Given the description of an element on the screen output the (x, y) to click on. 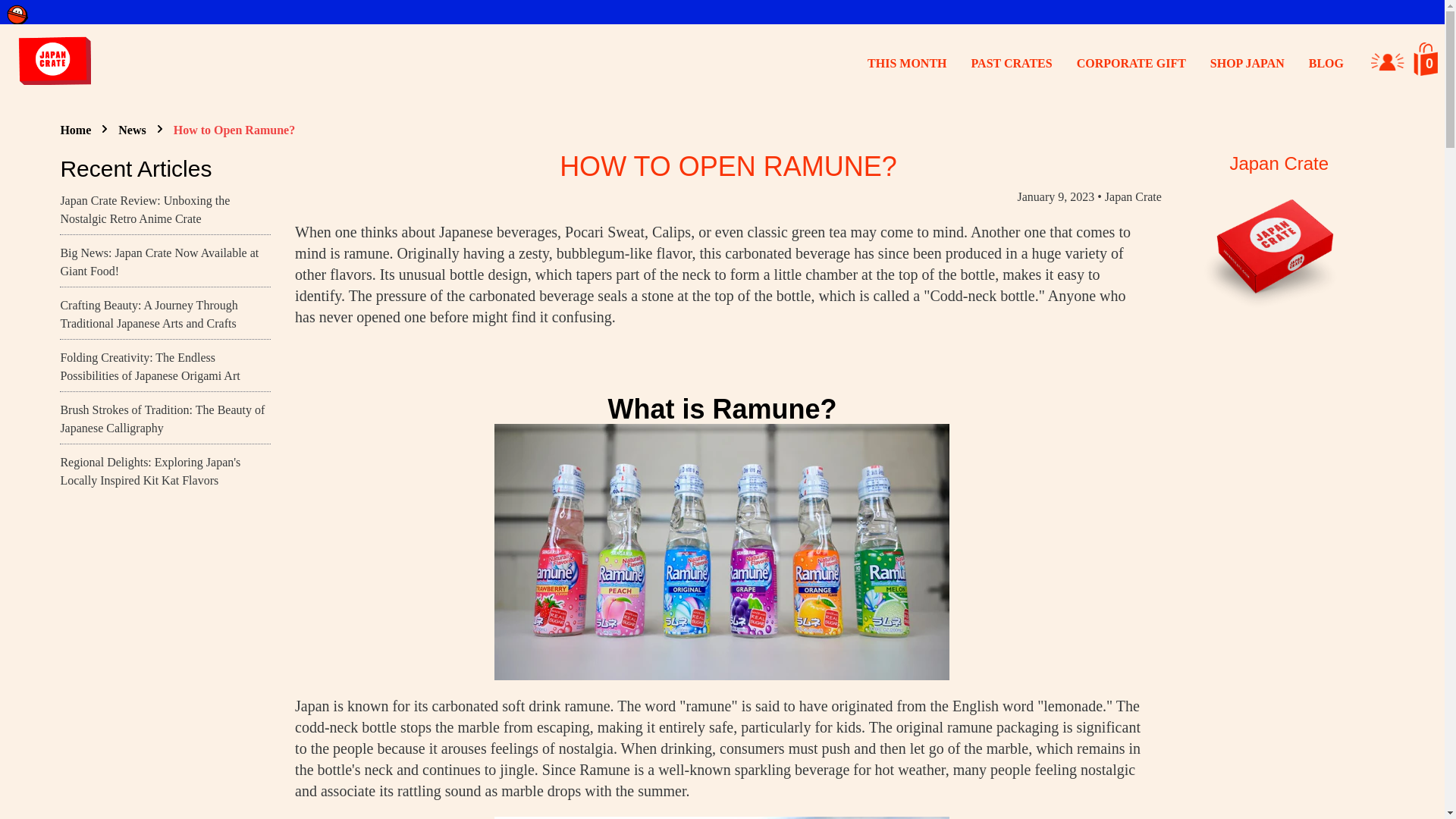
Home (74, 130)
News (131, 129)
BLOG (1325, 62)
PAST CRATES (1011, 62)
Japan Crate Review: Unboxing the Nostalgic Retro Anime Crate (144, 209)
SHOP JAPAN (1246, 62)
Back to the frontpage (74, 130)
THIS MONTH (906, 62)
CORPORATE GIFT (1131, 62)
Japan Crate (1133, 196)
Big News: Japan Crate Now Available at Giant Food! (159, 261)
